Given the description of an element on the screen output the (x, y) to click on. 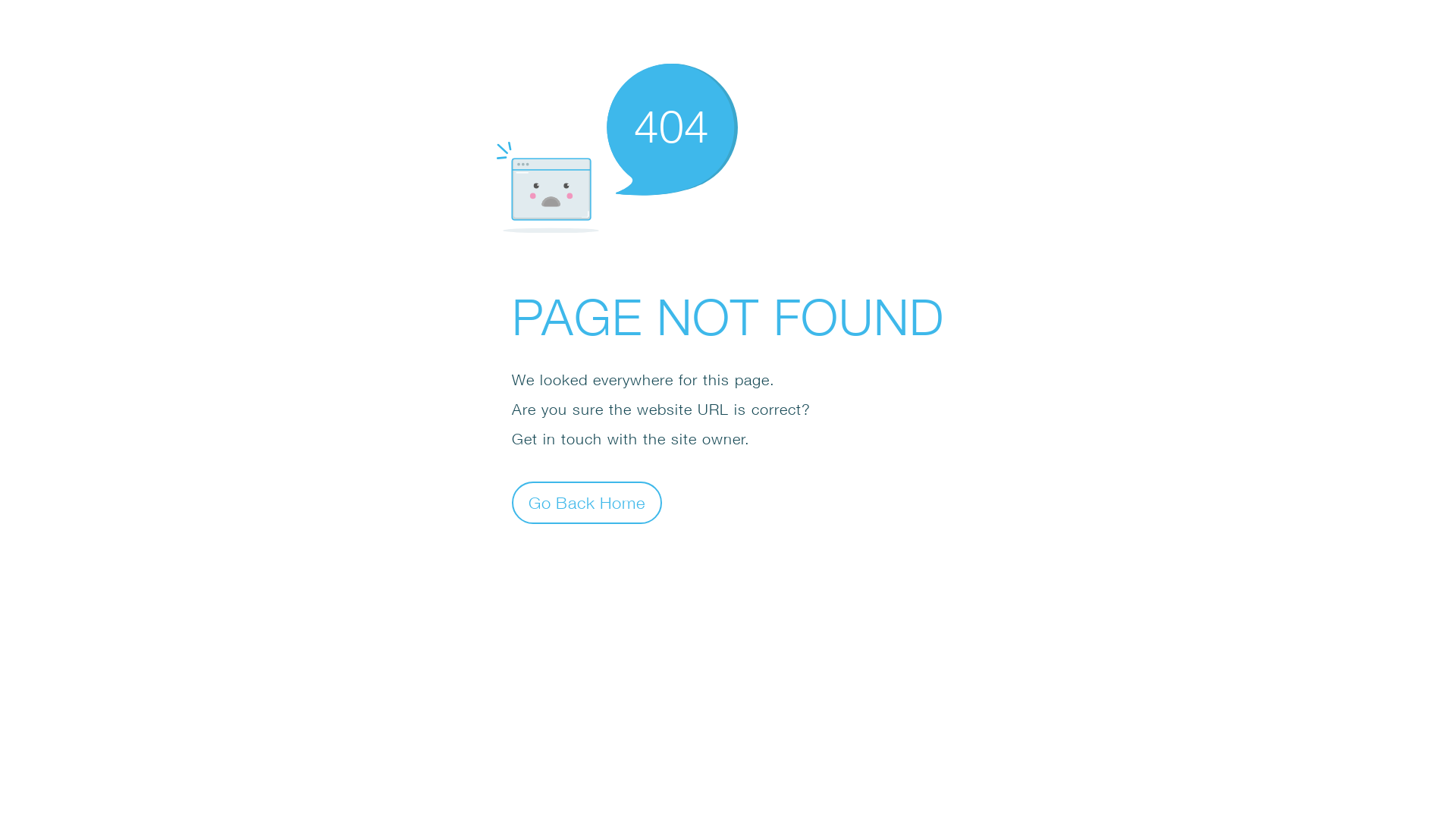
Go Back Home Element type: text (586, 502)
